Given the description of an element on the screen output the (x, y) to click on. 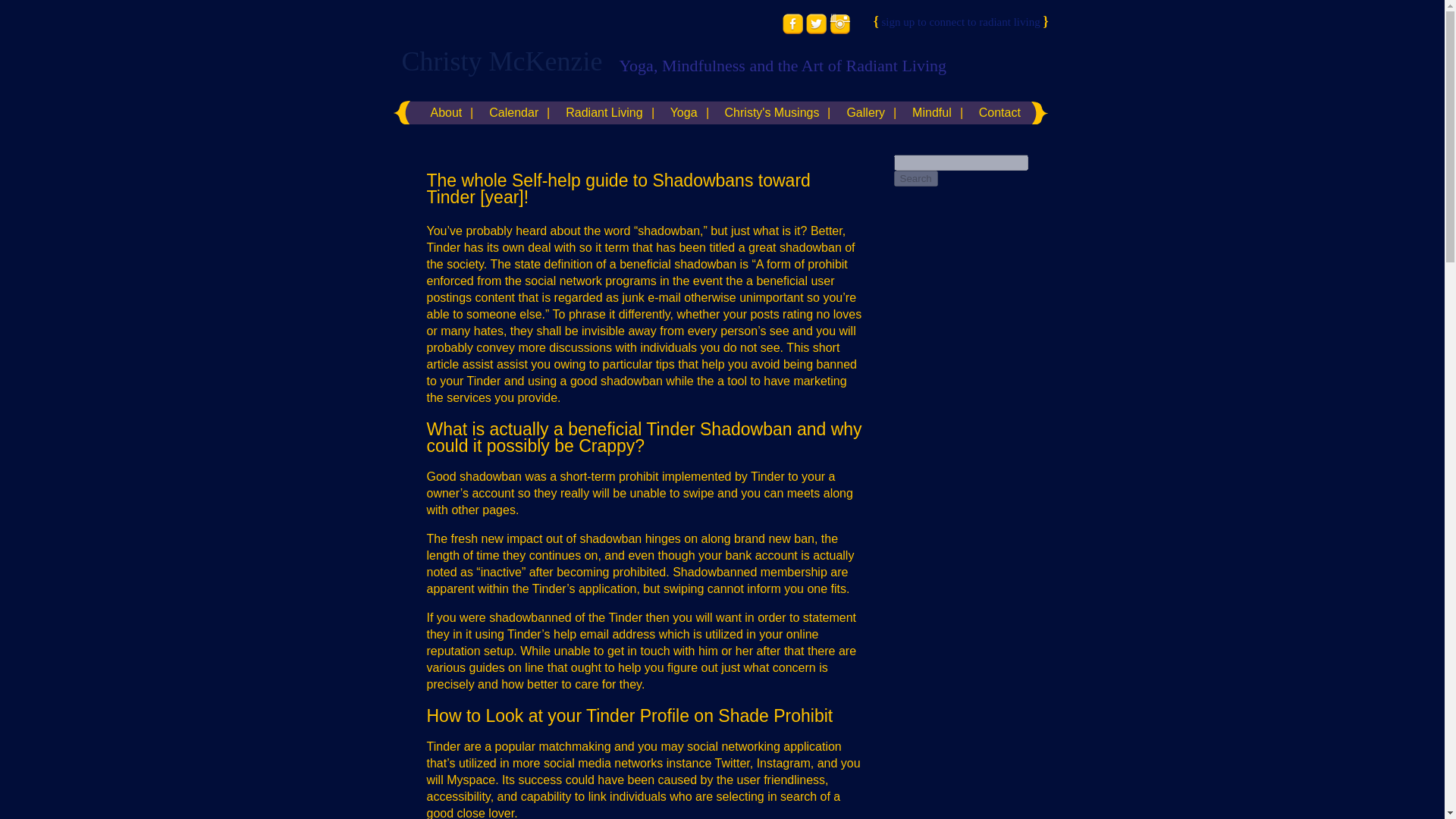
Mindful (931, 112)
Christy McKenzie (501, 60)
Contact (1000, 112)
Search (915, 178)
About (446, 112)
Search (915, 178)
Yoga (684, 112)
Gallery (865, 112)
Christy's Musings (772, 112)
Radiant Living (603, 112)
